Given the description of an element on the screen output the (x, y) to click on. 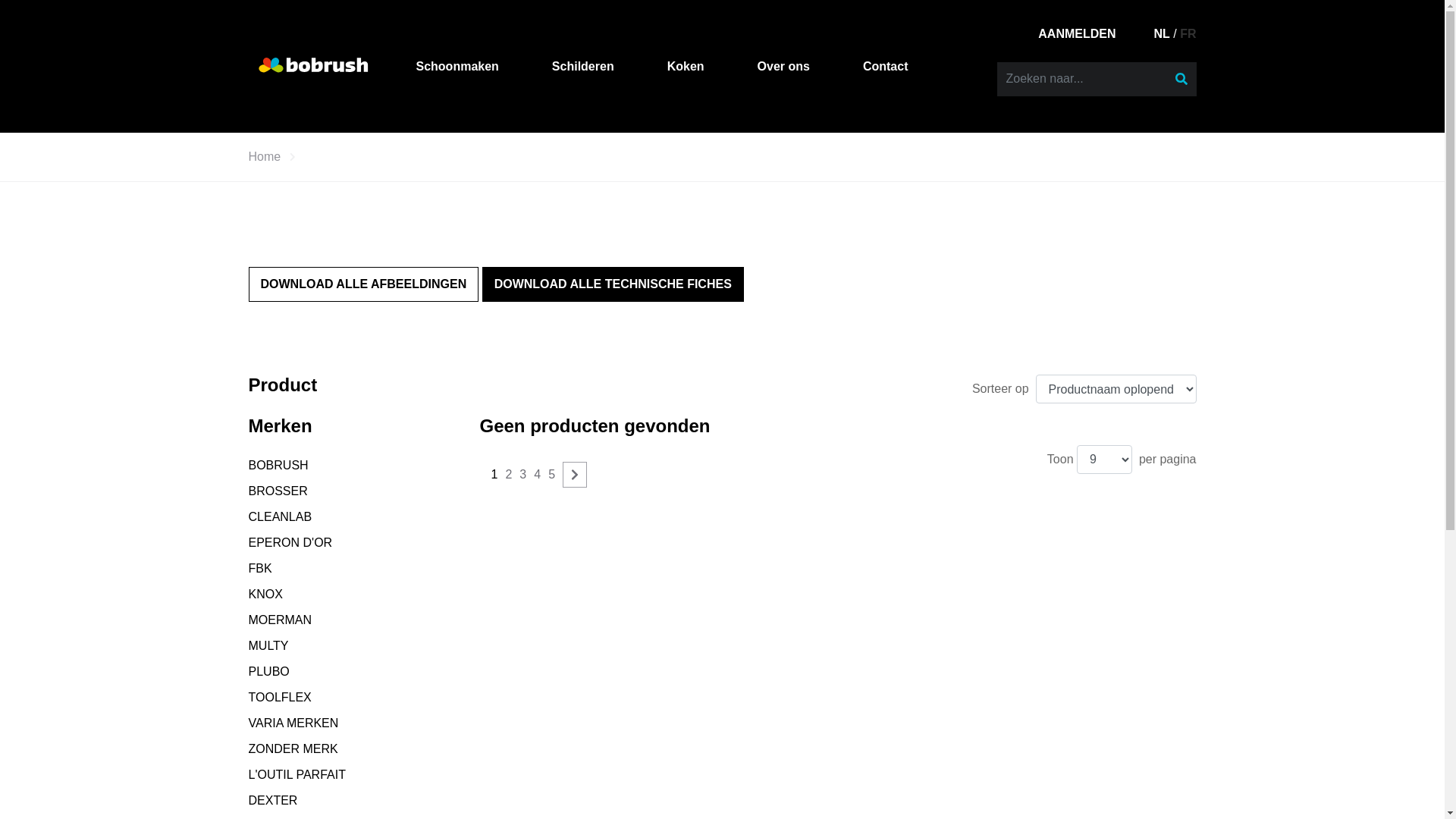
DOWNLOAD ALLE AFBEELDINGEN Element type: text (363, 283)
EPERON D'OR Element type: text (290, 542)
FR Element type: text (1187, 33)
BROSSER Element type: text (277, 491)
Schoonmaken Element type: text (456, 66)
AANMELDEN Element type: text (1076, 33)
5 Element type: text (551, 473)
KNOX Element type: text (265, 594)
Contact Element type: text (885, 66)
4 Element type: text (536, 473)
DEXTER Element type: text (273, 800)
Over ons Element type: text (783, 66)
1 Element type: text (494, 473)
2 Element type: text (508, 473)
MOERMAN Element type: text (280, 620)
ZONDER MERK Element type: text (293, 749)
Home Element type: text (264, 156)
L'OUTIL PARFAIT Element type: text (296, 774)
MULTY Element type: text (268, 646)
TOOLFLEX Element type: text (279, 697)
PLUBO Element type: text (268, 671)
Schilderen Element type: text (583, 66)
BOBRUSH Element type: text (278, 465)
3 Element type: text (522, 473)
FBK Element type: text (260, 568)
VARIA MERKEN Element type: text (293, 723)
Koken Element type: text (685, 66)
DOWNLOAD ALLE TECHNISCHE FICHES Element type: text (612, 283)
NL Element type: text (1162, 33)
CLEANLAB Element type: text (280, 517)
